Given the description of an element on the screen output the (x, y) to click on. 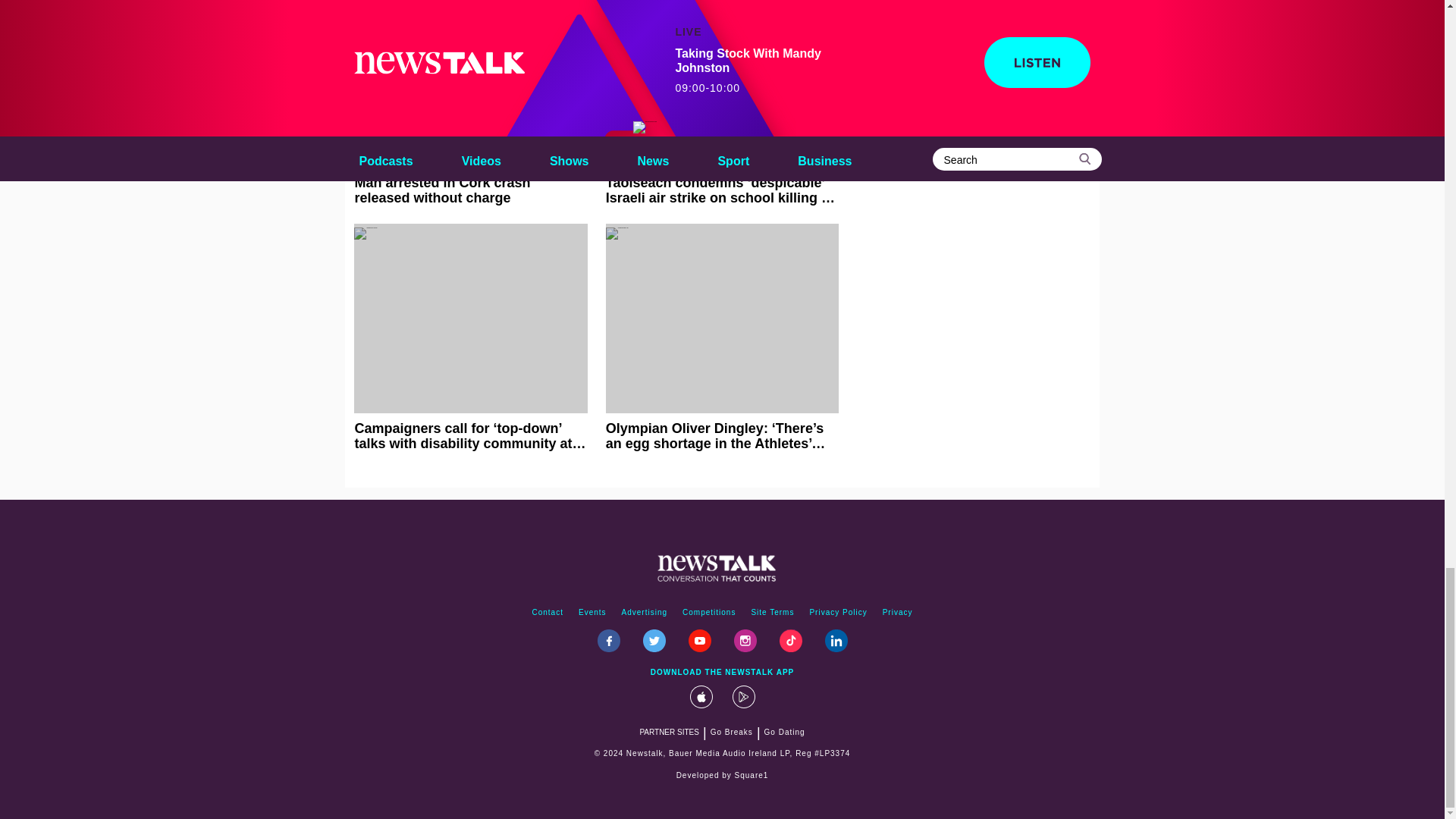
competitions (708, 612)
contact (547, 612)
advertising (644, 612)
Man arrested in Cork crash released without charge  (469, 102)
site terms (772, 612)
Privacy (897, 612)
Privacy Policy (838, 612)
events (592, 612)
